Given the description of an element on the screen output the (x, y) to click on. 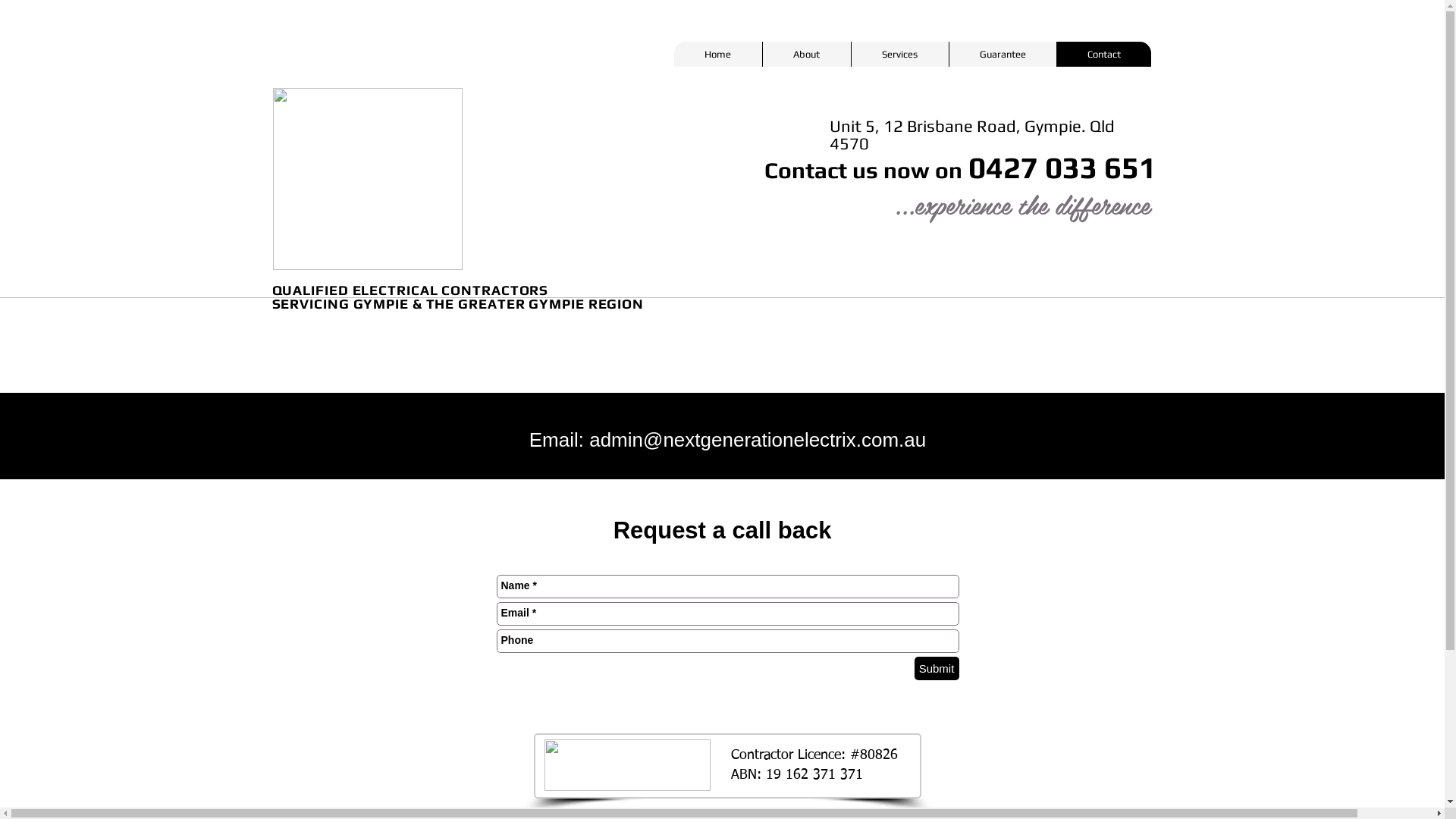
Submit Element type: text (936, 668)
Contact us now on Element type: text (863, 169)
Contact Element type: text (1102, 53)
Services Element type: text (899, 53)
Guarantee Element type: text (1001, 53)
About Element type: text (805, 53)
Home Element type: text (717, 53)
admin@nextgenerationelectrix.com.au Element type: text (757, 439)
